Given the description of an element on the screen output the (x, y) to click on. 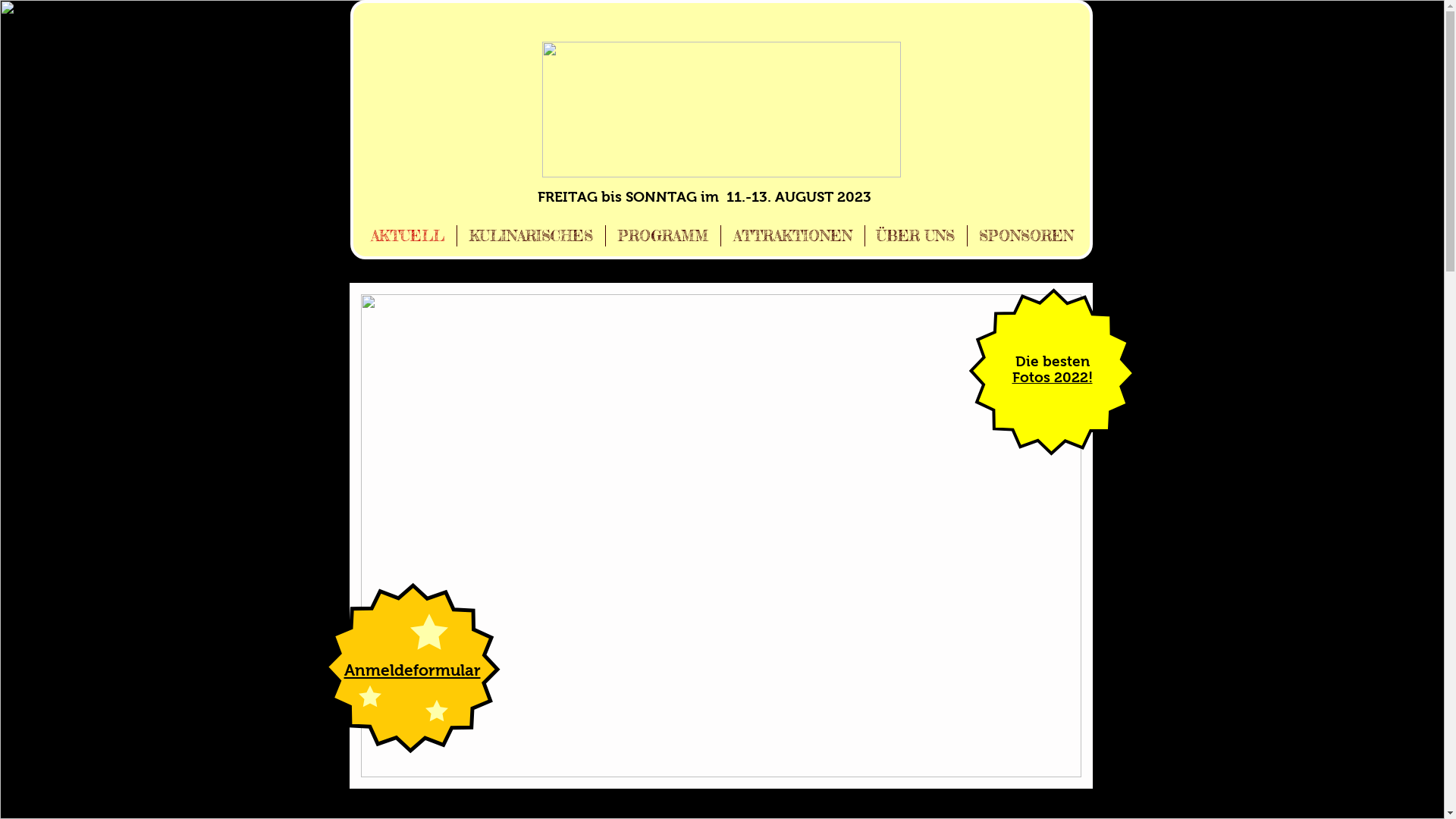
KULINARISCHES Element type: text (530, 235)
PROGRAMM Element type: text (662, 235)
AKTUELL Element type: text (406, 235)
SPONSOREN Element type: text (1026, 235)
ATTRAKTIONEN Element type: text (791, 235)
Fotos 2022! Element type: text (1051, 377)
Anmeldeformular Element type: text (412, 669)
